Given the description of an element on the screen output the (x, y) to click on. 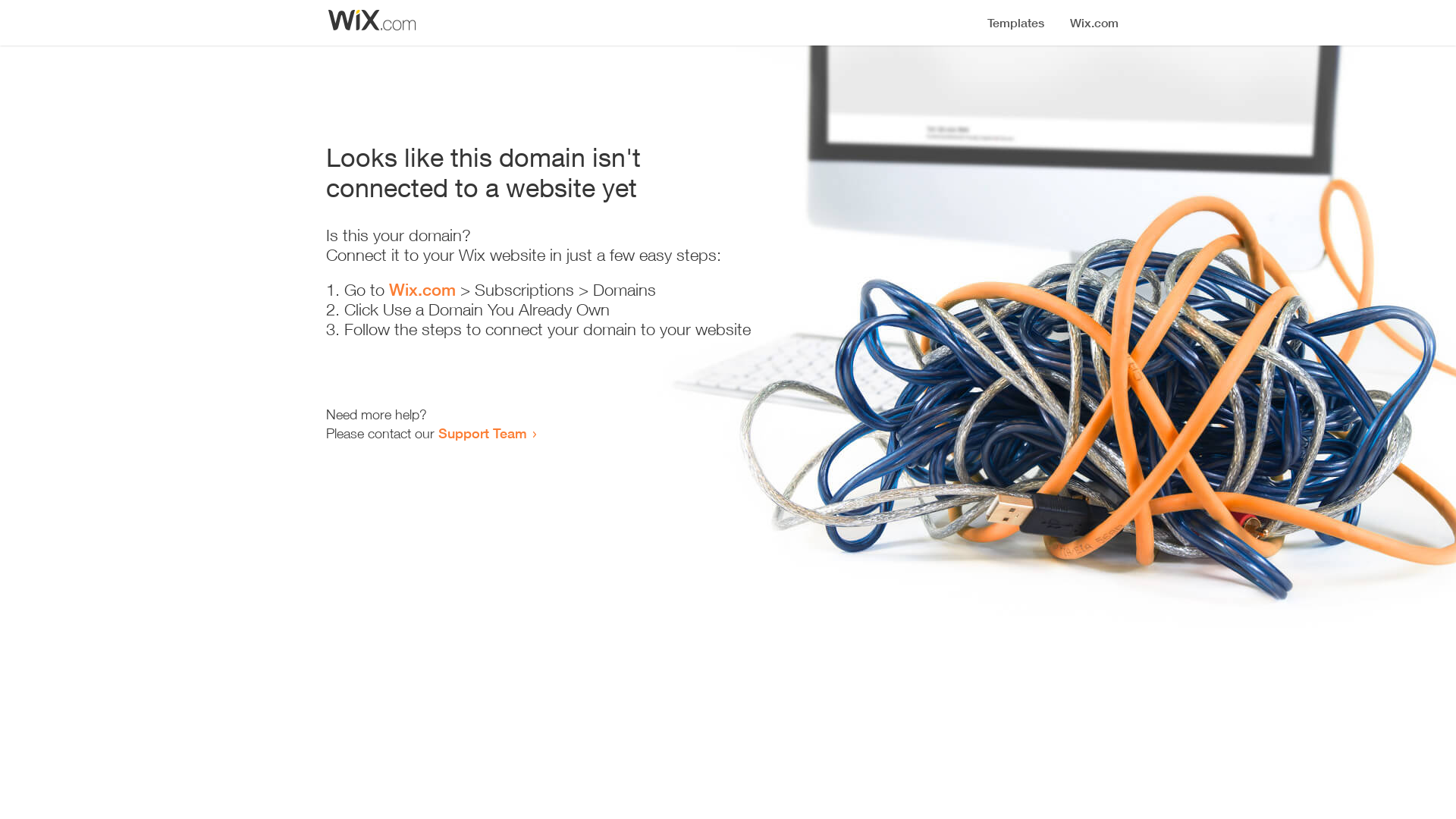
Wix.com Element type: text (422, 289)
Support Team Element type: text (482, 432)
